Given the description of an element on the screen output the (x, y) to click on. 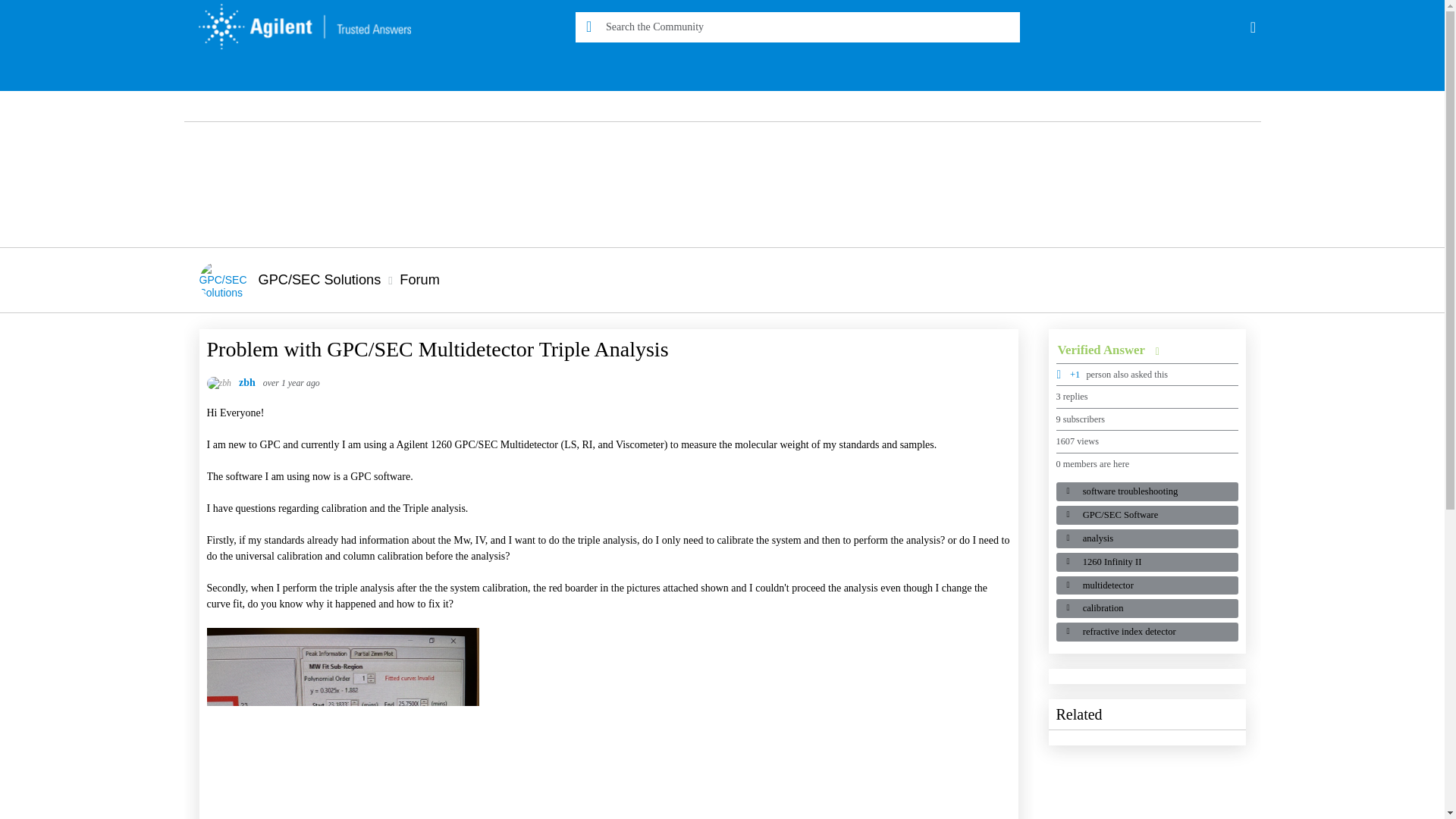
Join or sign in (1252, 27)
User (1252, 27)
Home (296, 26)
